Given the description of an element on the screen output the (x, y) to click on. 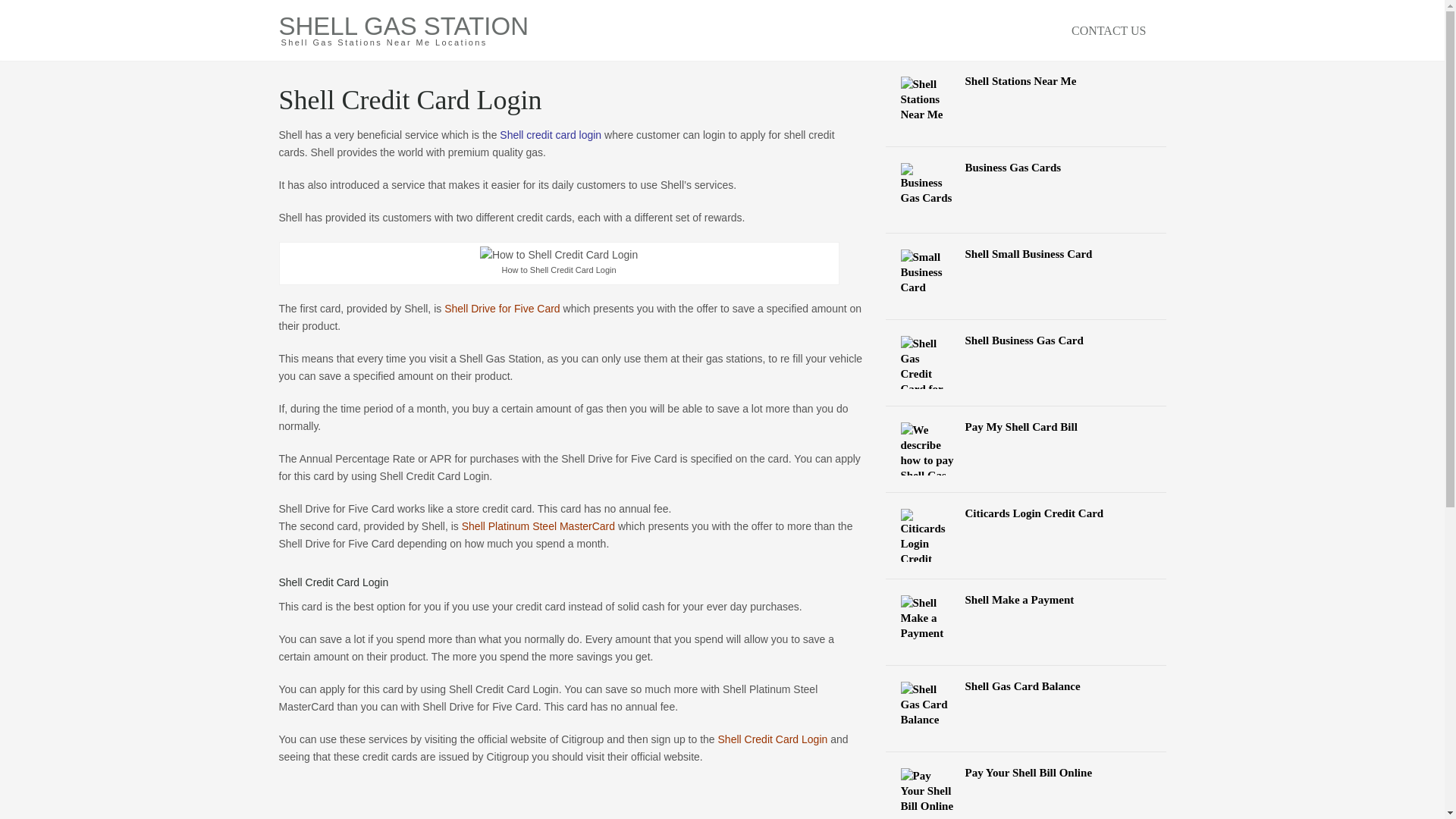
Pay Your Shell Bill Online (1026, 772)
Shell Stations Near Me (1026, 80)
Shell Small Business Card (1026, 253)
Business Gas Cards (1026, 167)
Pay My Shell Card Bill (1026, 426)
SHELL GAS STATION (403, 25)
Pay My Shell Card Bill (1026, 426)
Business Gas Cards (1026, 167)
Citicards Login Credit Card (1026, 513)
CONTACT US (1108, 30)
